Given the description of an element on the screen output the (x, y) to click on. 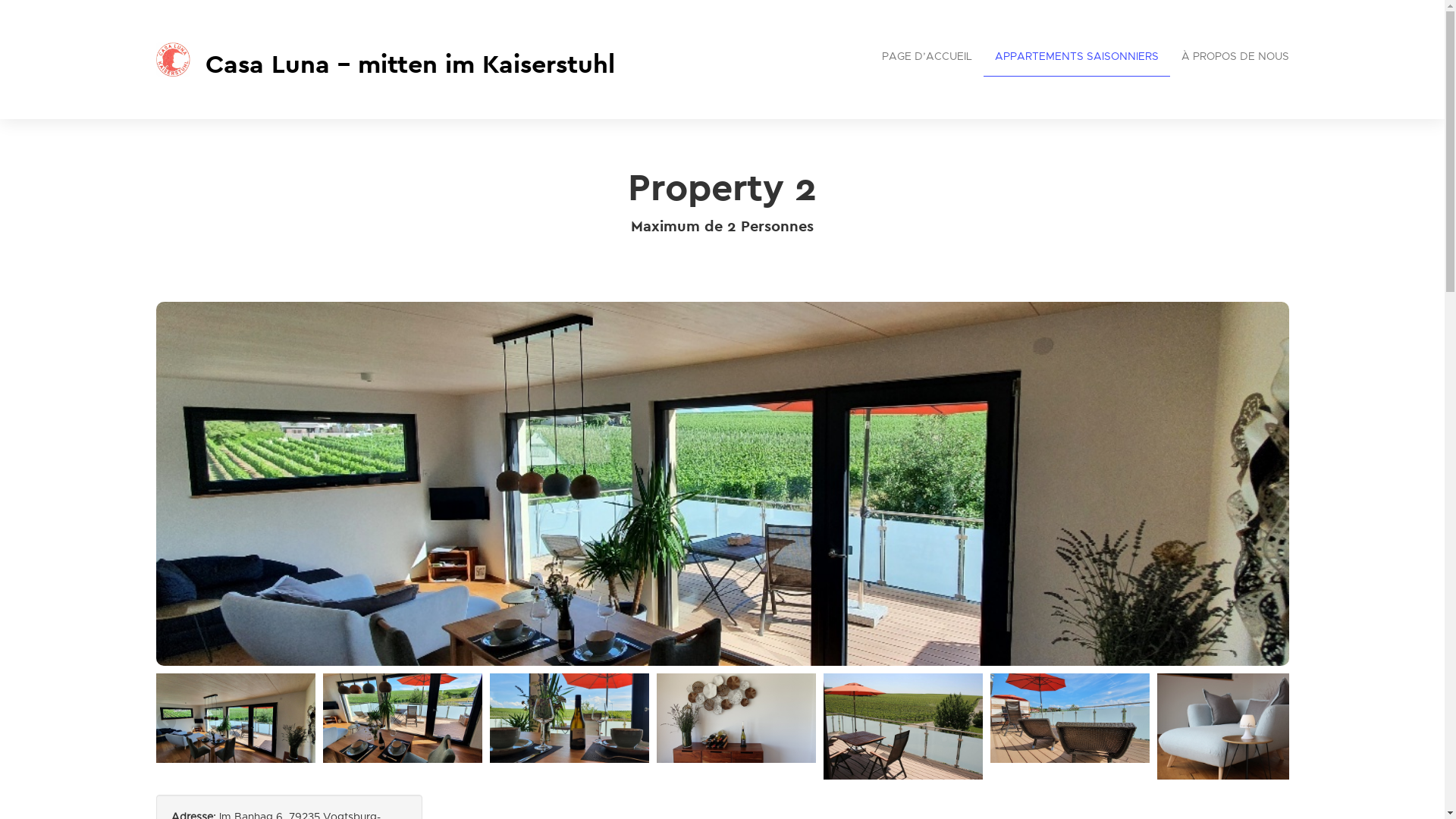
Previous Element type: text (167, 722)
Casa Luna - mitten im Kaiserstuhl Element type: text (433, 59)
APPARTEMENTS SAISONNIERS Element type: text (1075, 56)
